Given the description of an element on the screen output the (x, y) to click on. 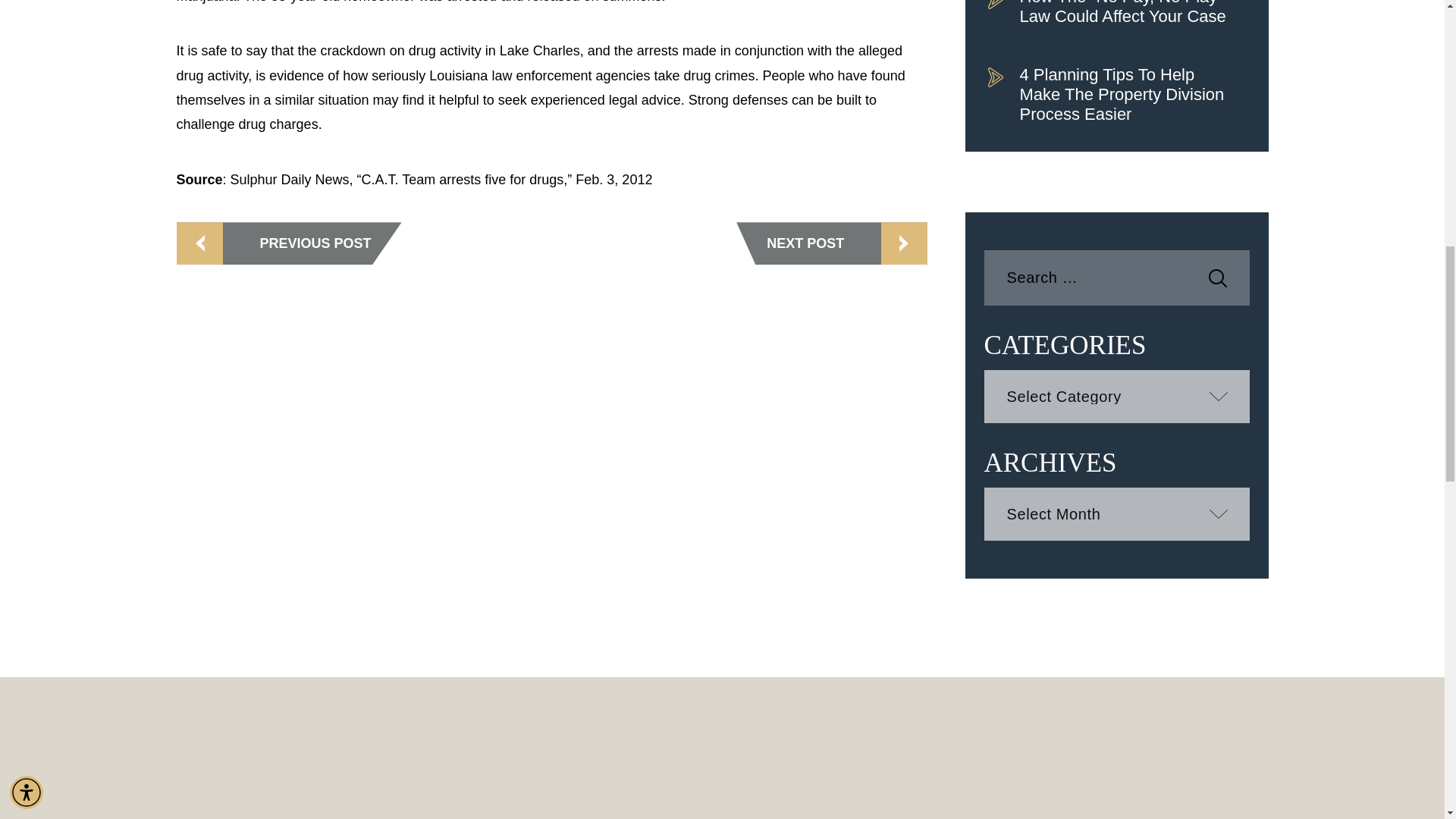
Search (1217, 278)
Search (1217, 278)
